Given the description of an element on the screen output the (x, y) to click on. 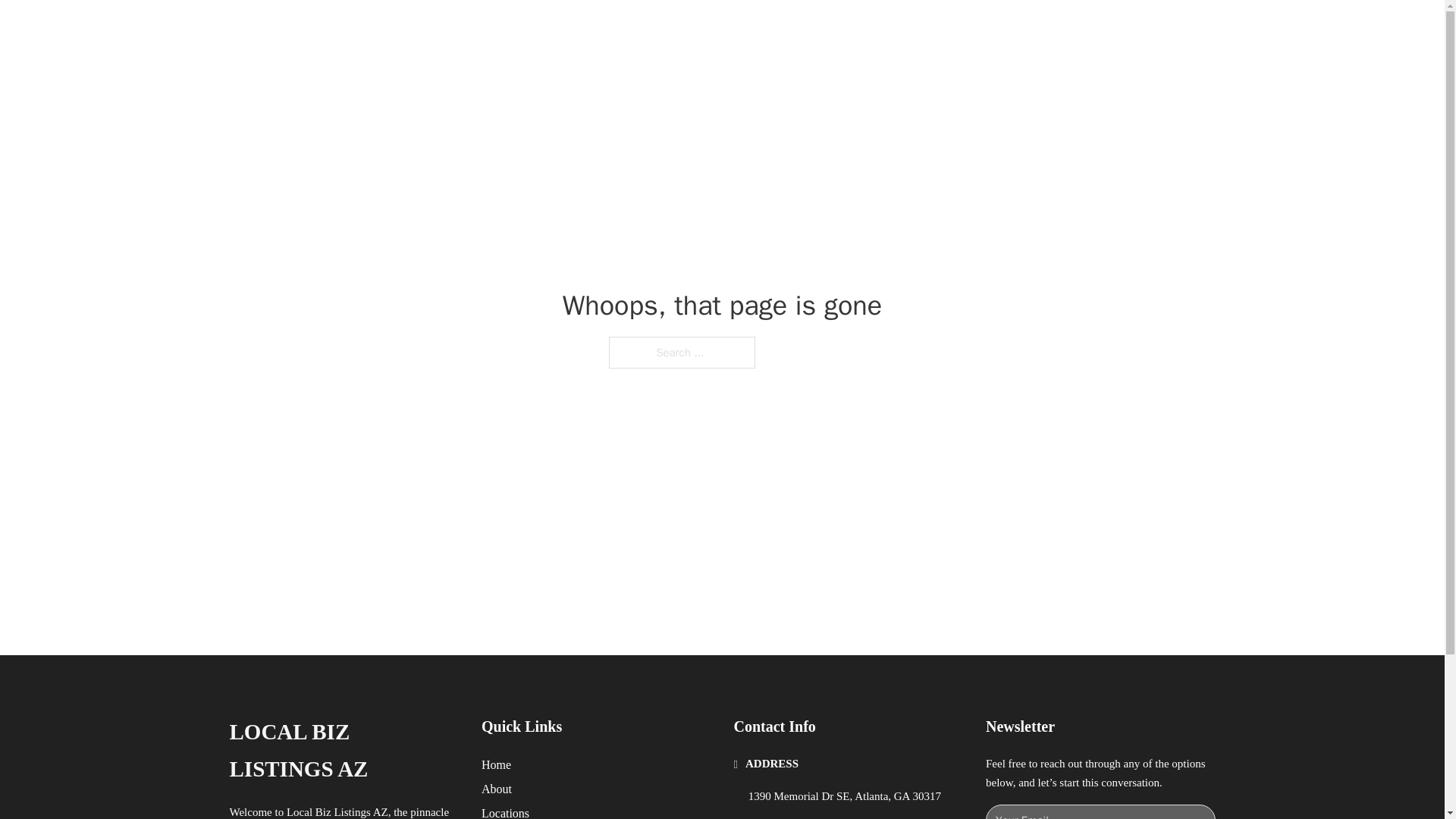
LOCAL BIZ LISTINGS AZ (343, 750)
LOCATIONS (990, 29)
Home (496, 764)
About (496, 788)
Locations (505, 811)
HOME (919, 29)
